Given the description of an element on the screen output the (x, y) to click on. 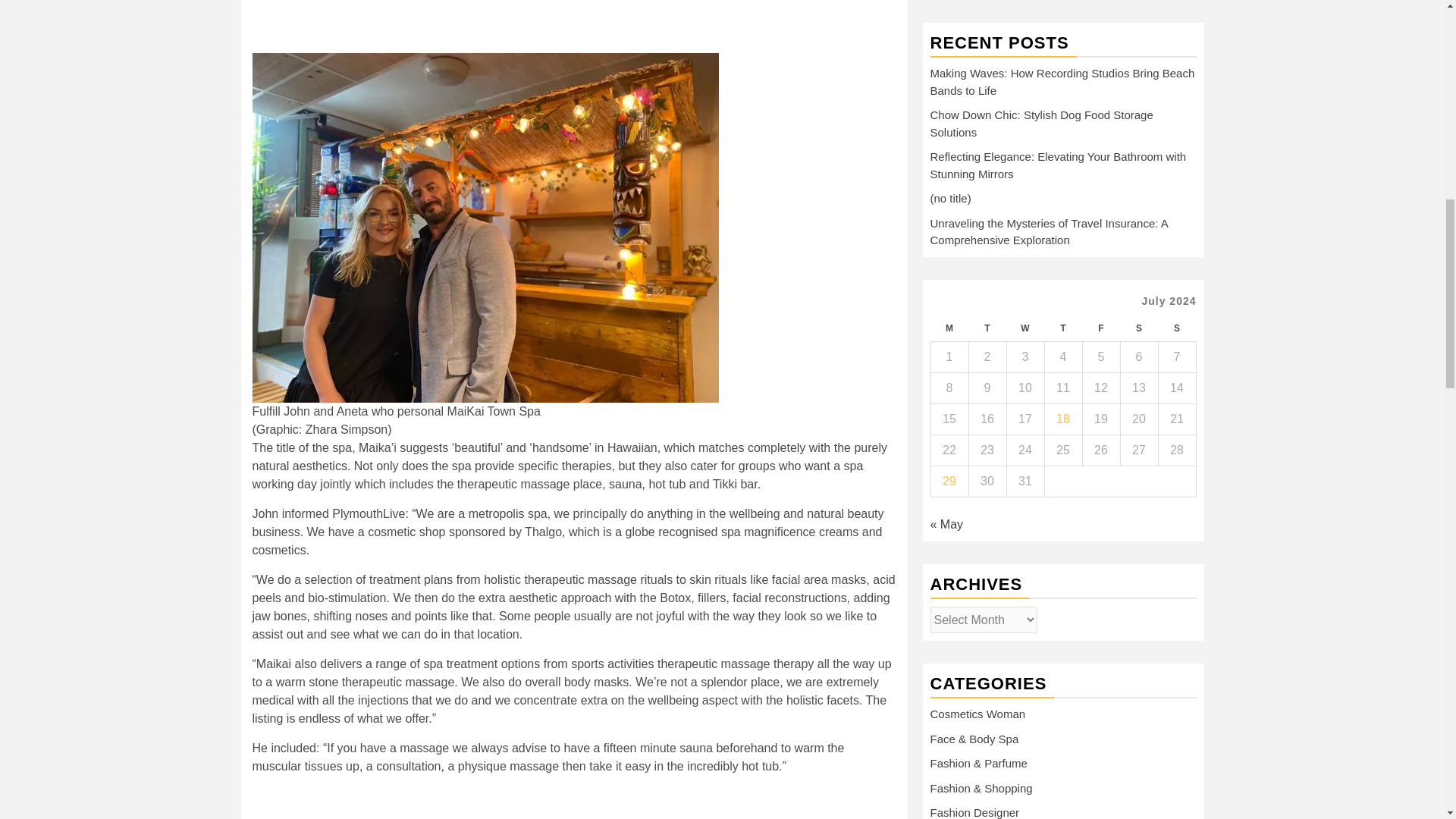
Seedbacklink (971, 642)
